Given the description of an element on the screen output the (x, y) to click on. 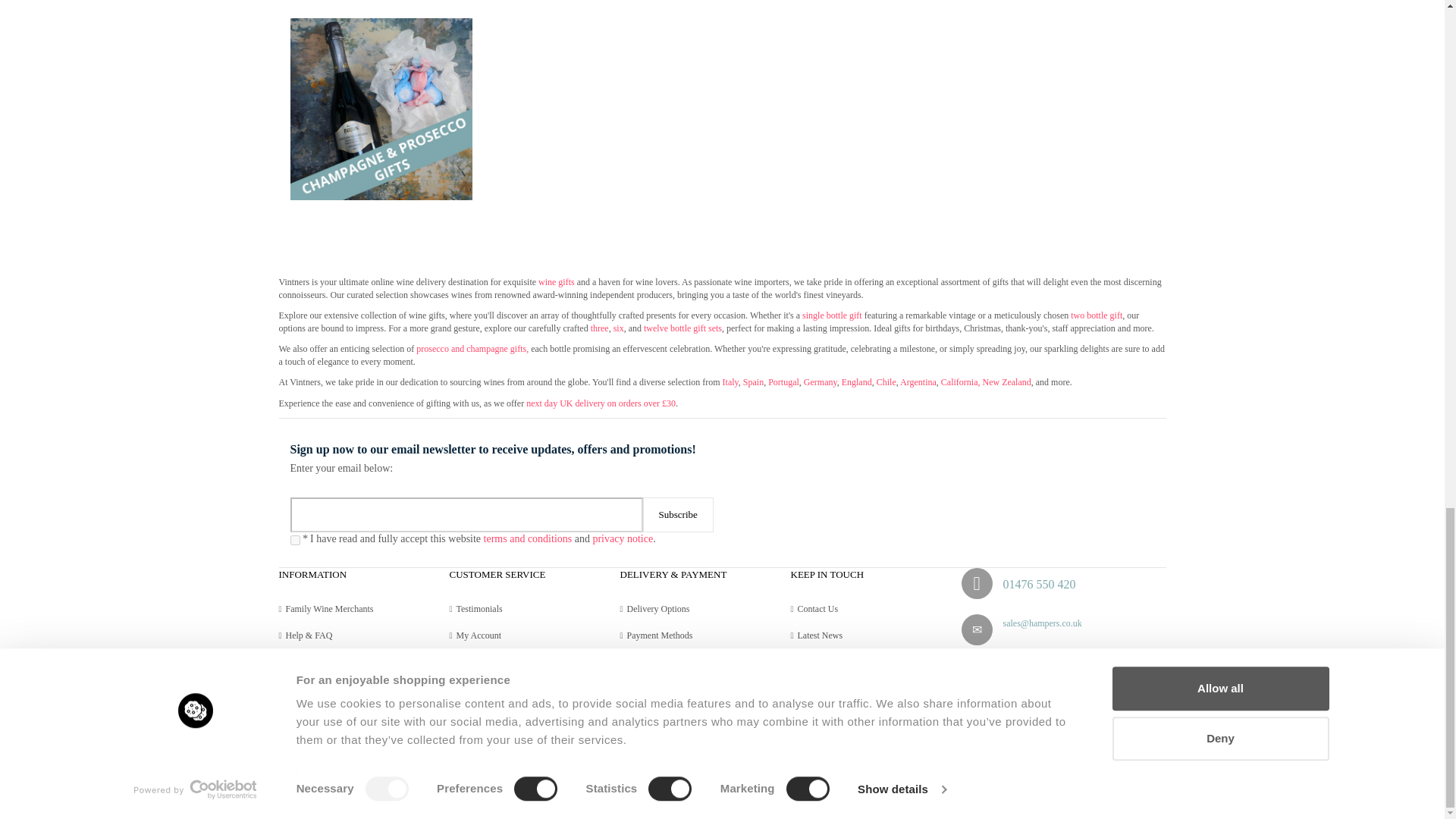
on (294, 540)
